Given the description of an element on the screen output the (x, y) to click on. 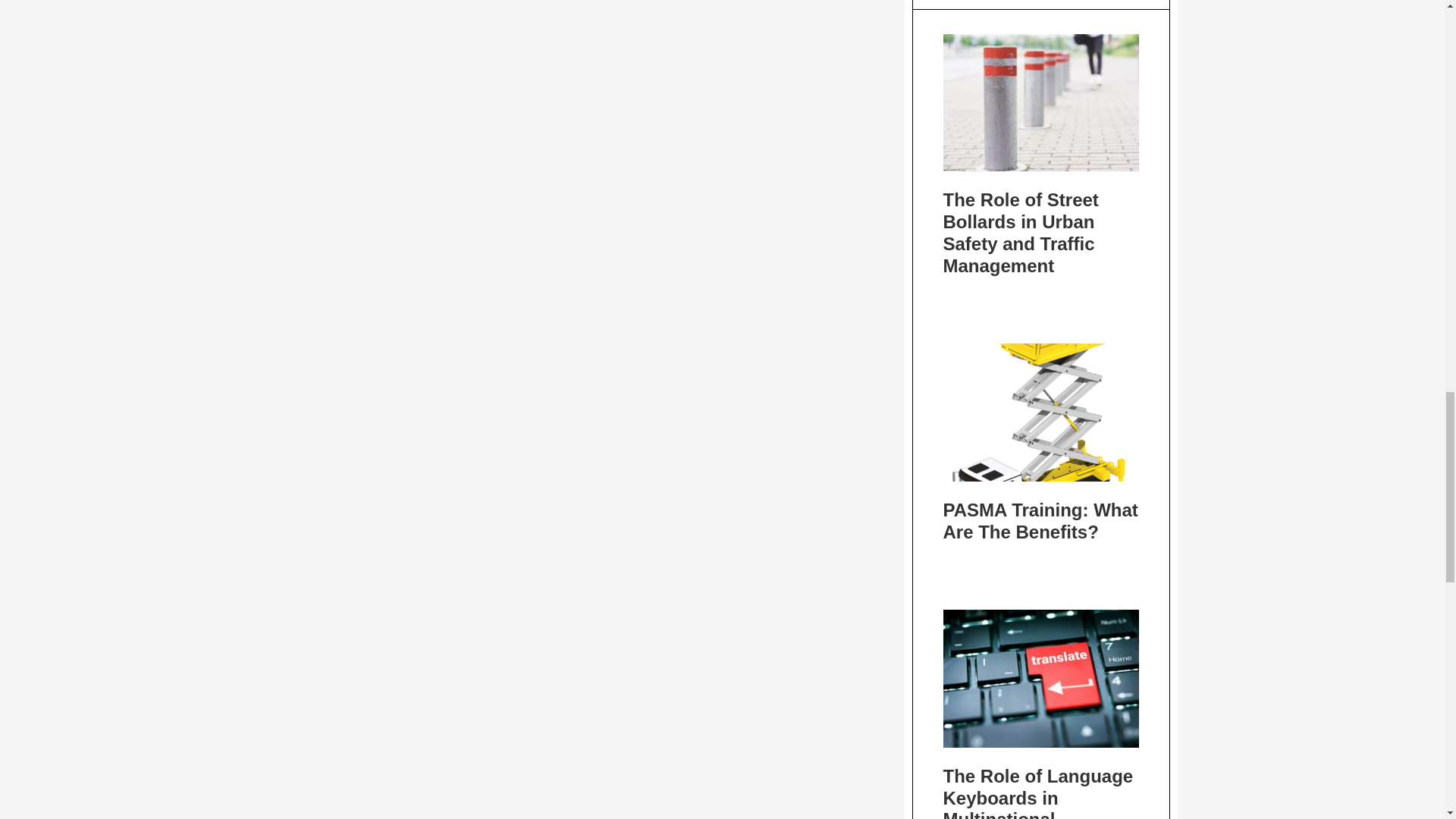
PASMA Training: What Are The Benefits? (1040, 520)
The Role of Language Keyboards in Multinational Companies (1038, 792)
